Given the description of an element on the screen output the (x, y) to click on. 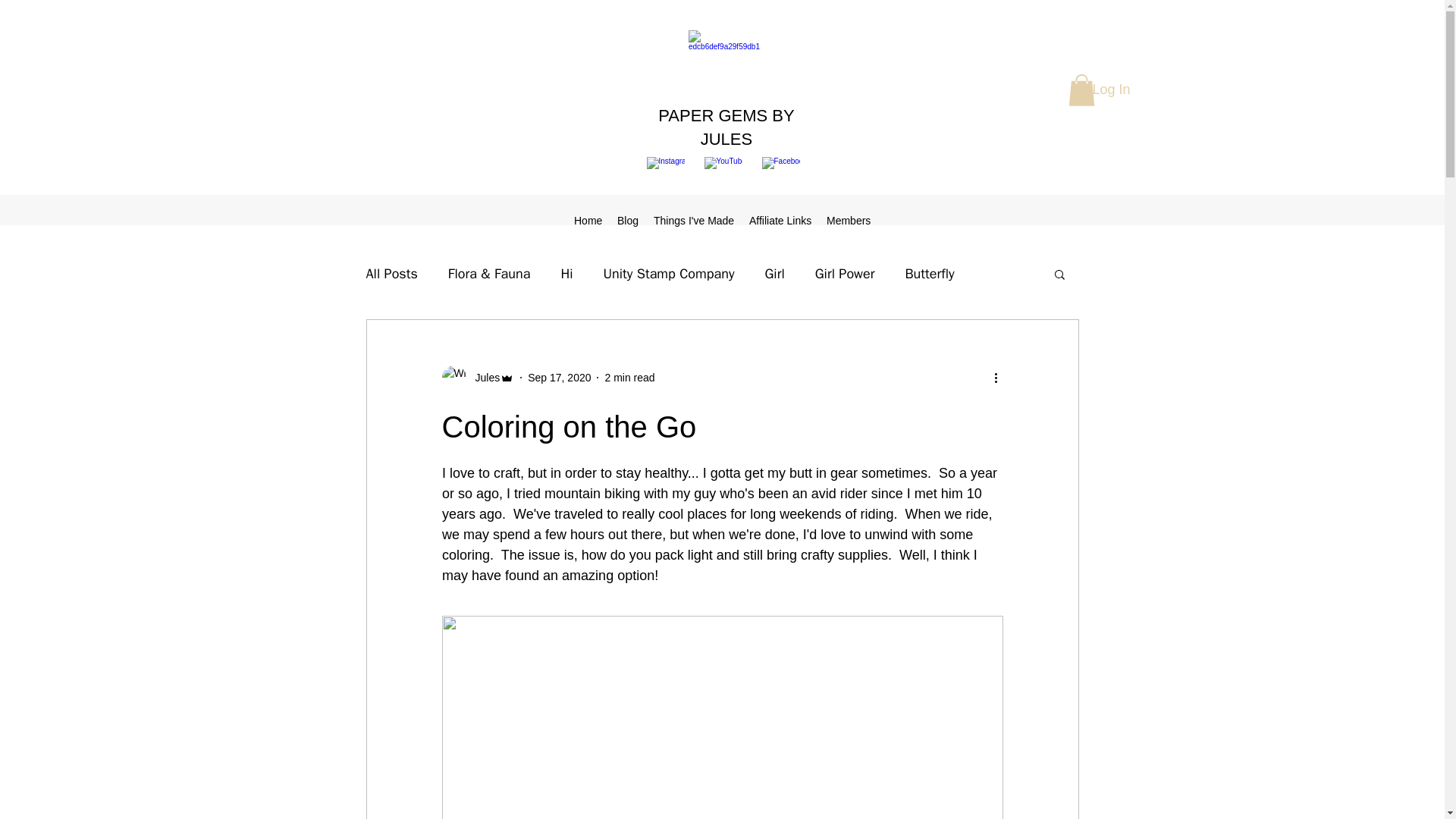
Sep 17, 2020 (559, 377)
Unity Stamp Company (669, 273)
Log In (1110, 90)
2 min read (628, 377)
Jules (482, 377)
All Posts (390, 273)
Affiliate Links (779, 220)
Home (588, 220)
Butterfly (928, 273)
PAPER GEMS BY JULES (725, 127)
